Given the description of an element on the screen output the (x, y) to click on. 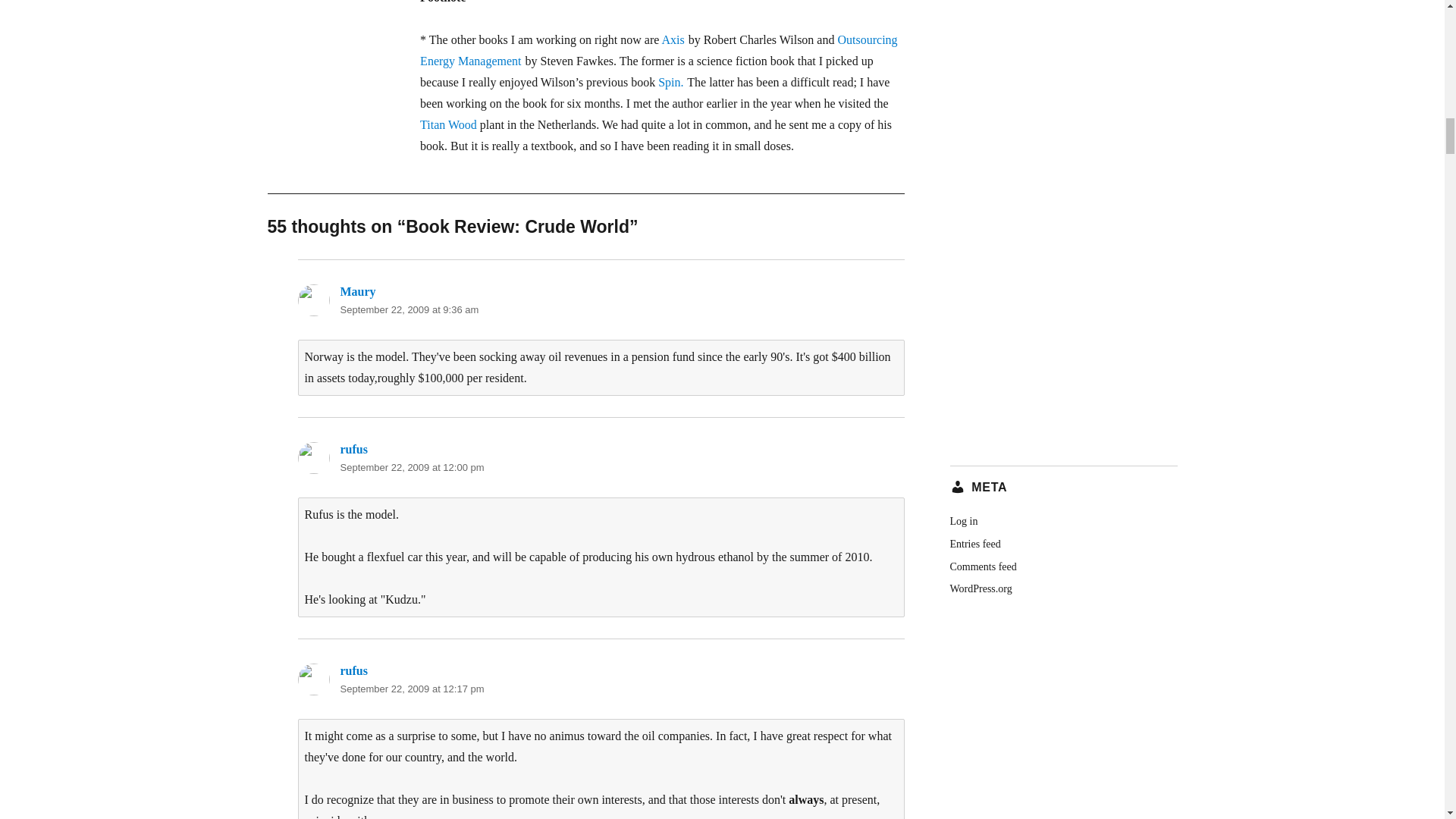
Titan Wood (448, 124)
Axis (672, 39)
Outsourcing Energy Management (658, 50)
Maury (357, 291)
September 22, 2009 at 12:17 pm (411, 688)
rufus (352, 449)
rufus (352, 670)
Spin. (670, 82)
September 22, 2009 at 12:00 pm (411, 467)
September 22, 2009 at 9:36 am (409, 309)
